Given the description of an element on the screen output the (x, y) to click on. 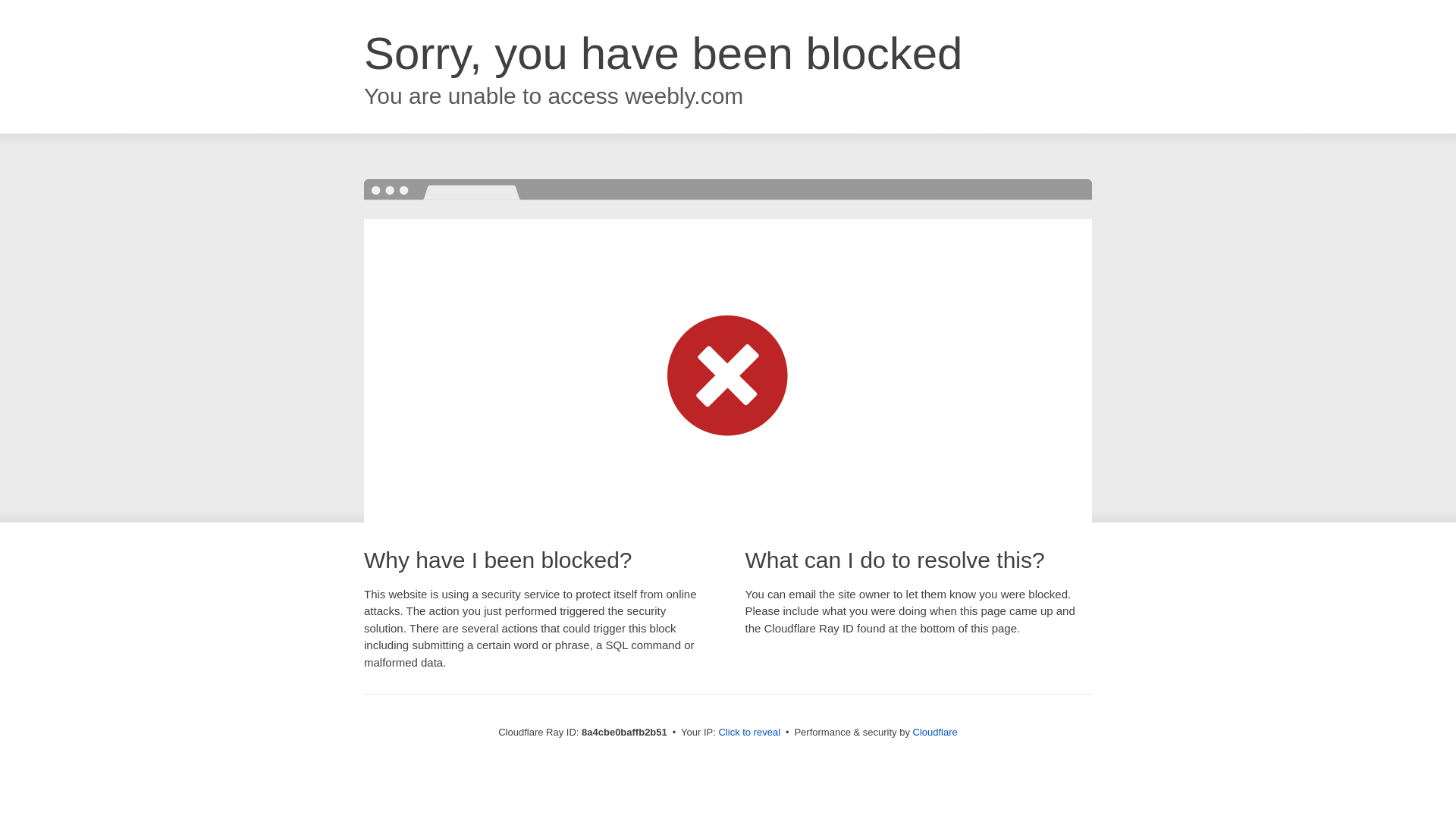
Click to reveal (748, 732)
Cloudflare (935, 731)
